Given the description of an element on the screen output the (x, y) to click on. 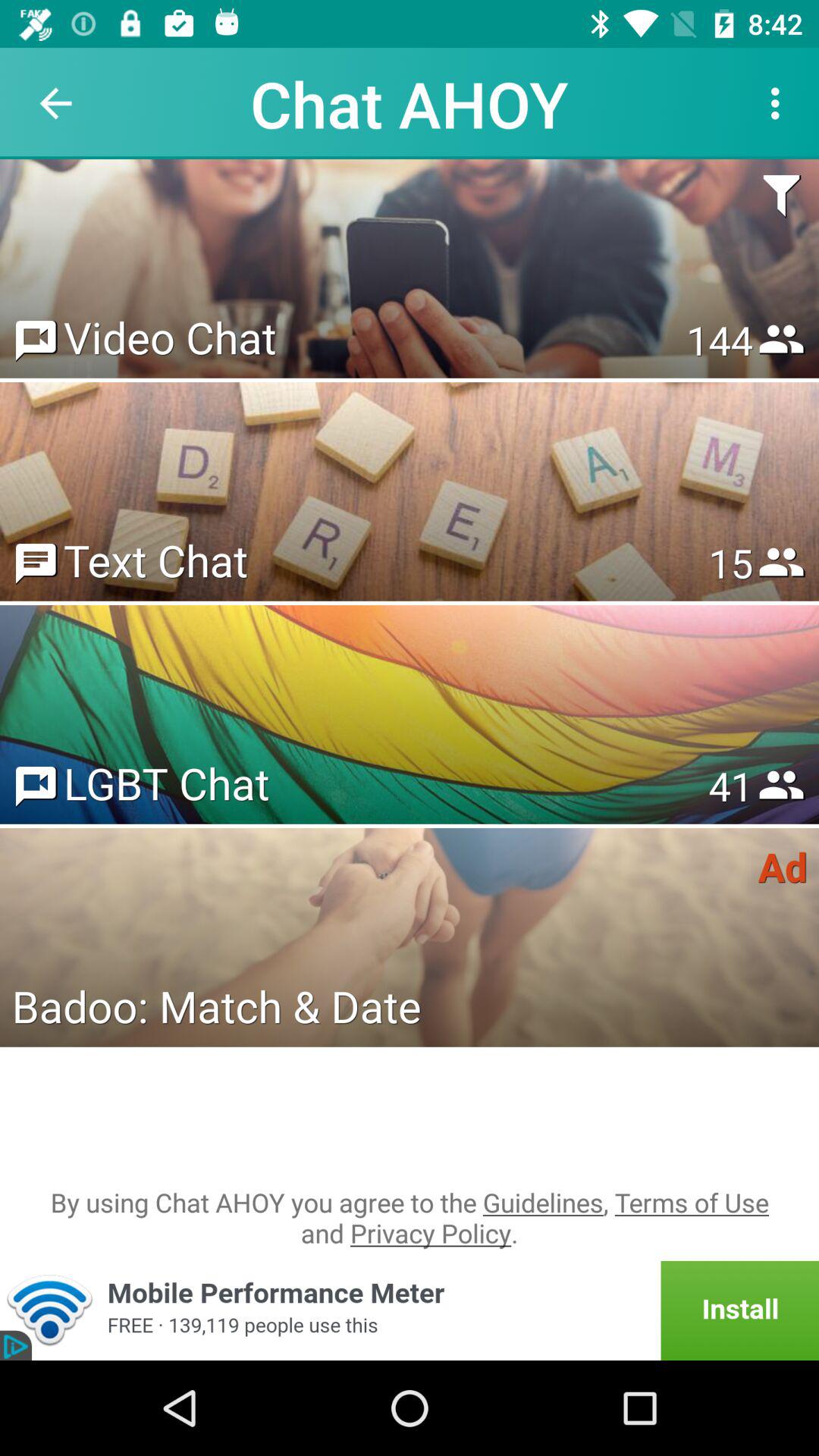
press the item next to the lgbt chat (730, 785)
